Given the description of an element on the screen output the (x, y) to click on. 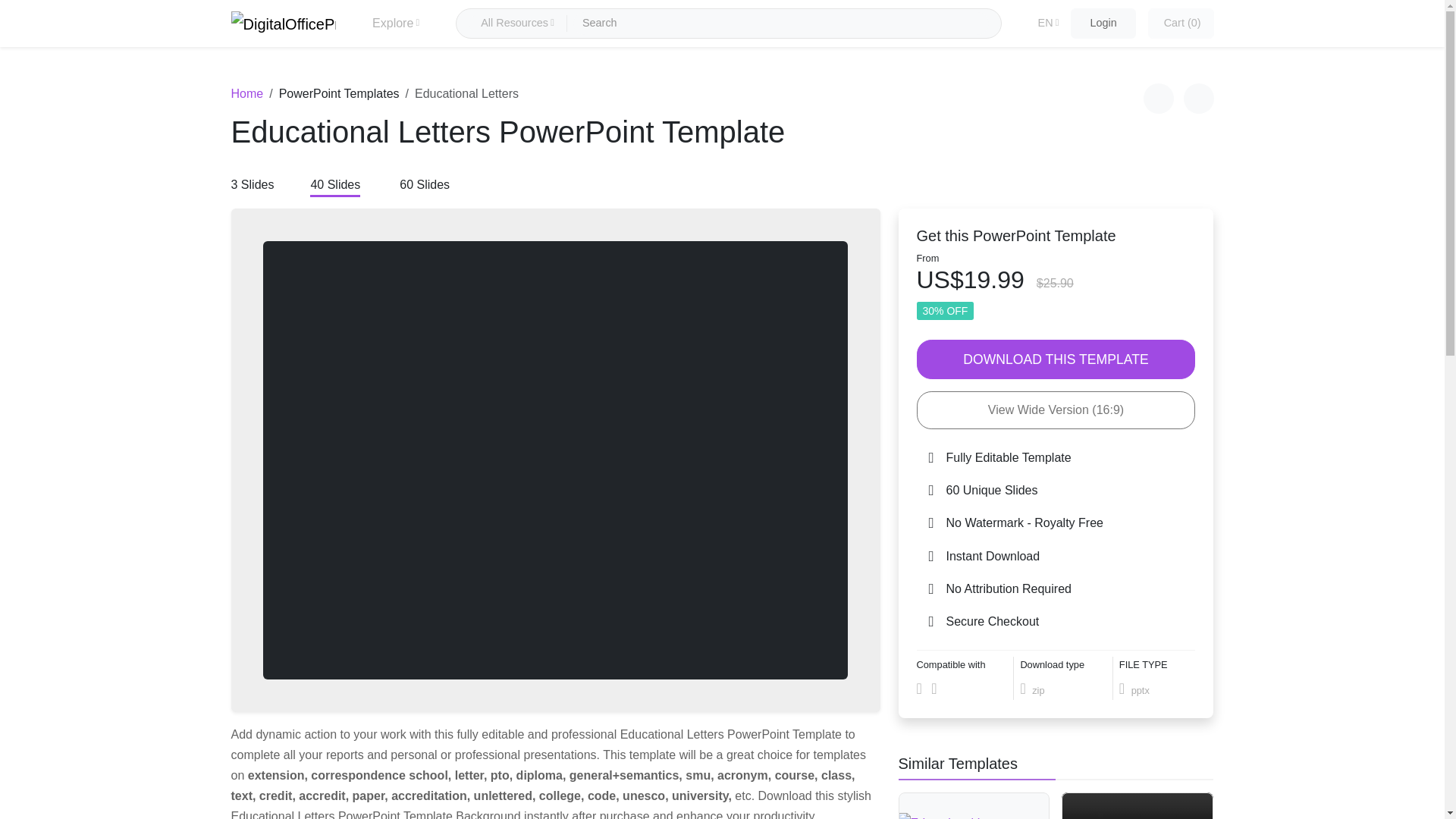
Login (1102, 23)
Explore (395, 22)
Home (246, 92)
All Resources (517, 23)
60 Slides (423, 185)
PowerPoint Templates (338, 92)
40 Slides (334, 185)
3 Slides (251, 185)
